Given the description of an element on the screen output the (x, y) to click on. 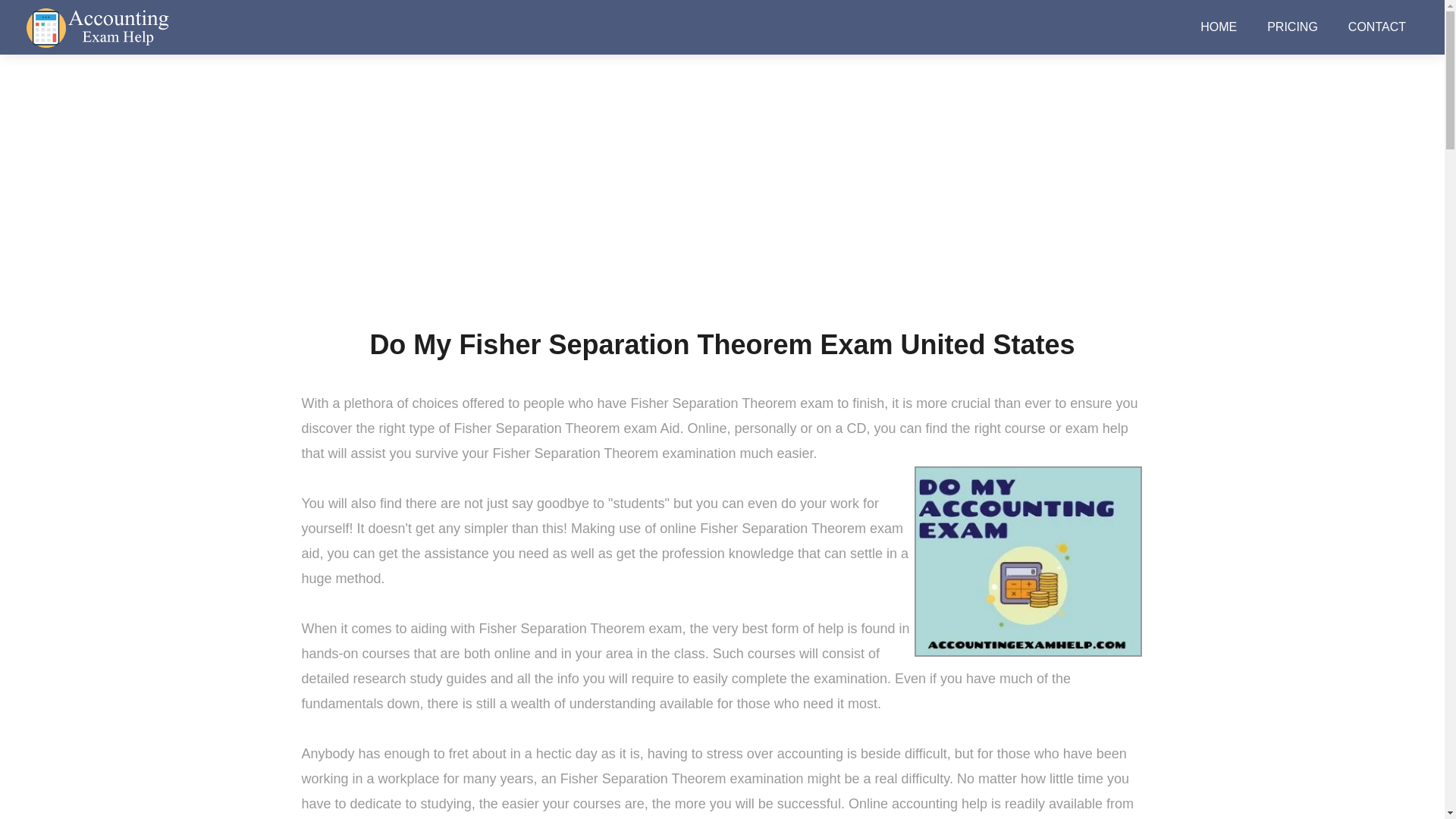
PRICING (1291, 27)
Exam (671, 207)
CONTACT (1377, 27)
Home (625, 207)
HOME (1217, 27)
